Given the description of an element on the screen output the (x, y) to click on. 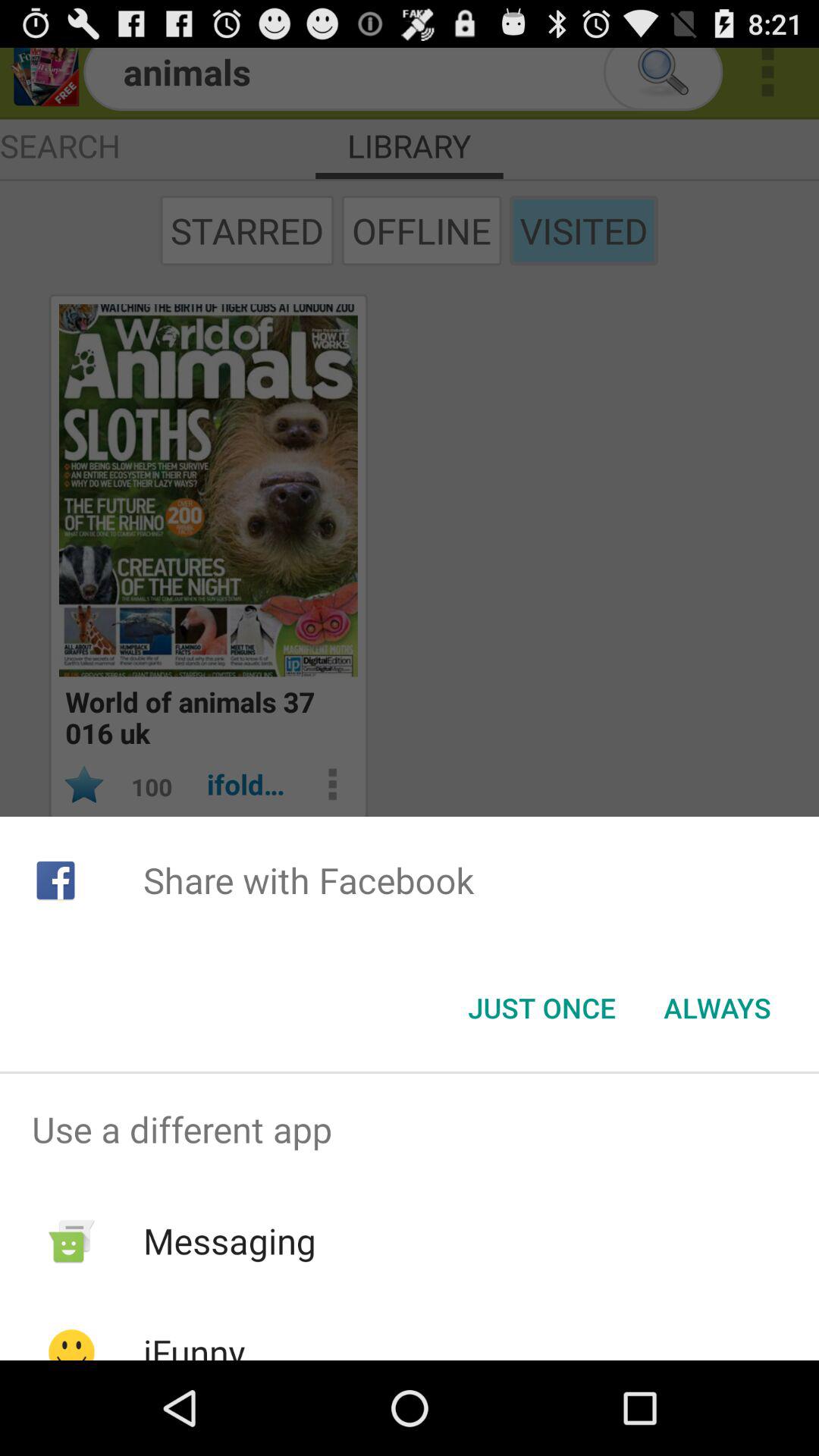
turn on the icon below messaging item (194, 1344)
